Given the description of an element on the screen output the (x, y) to click on. 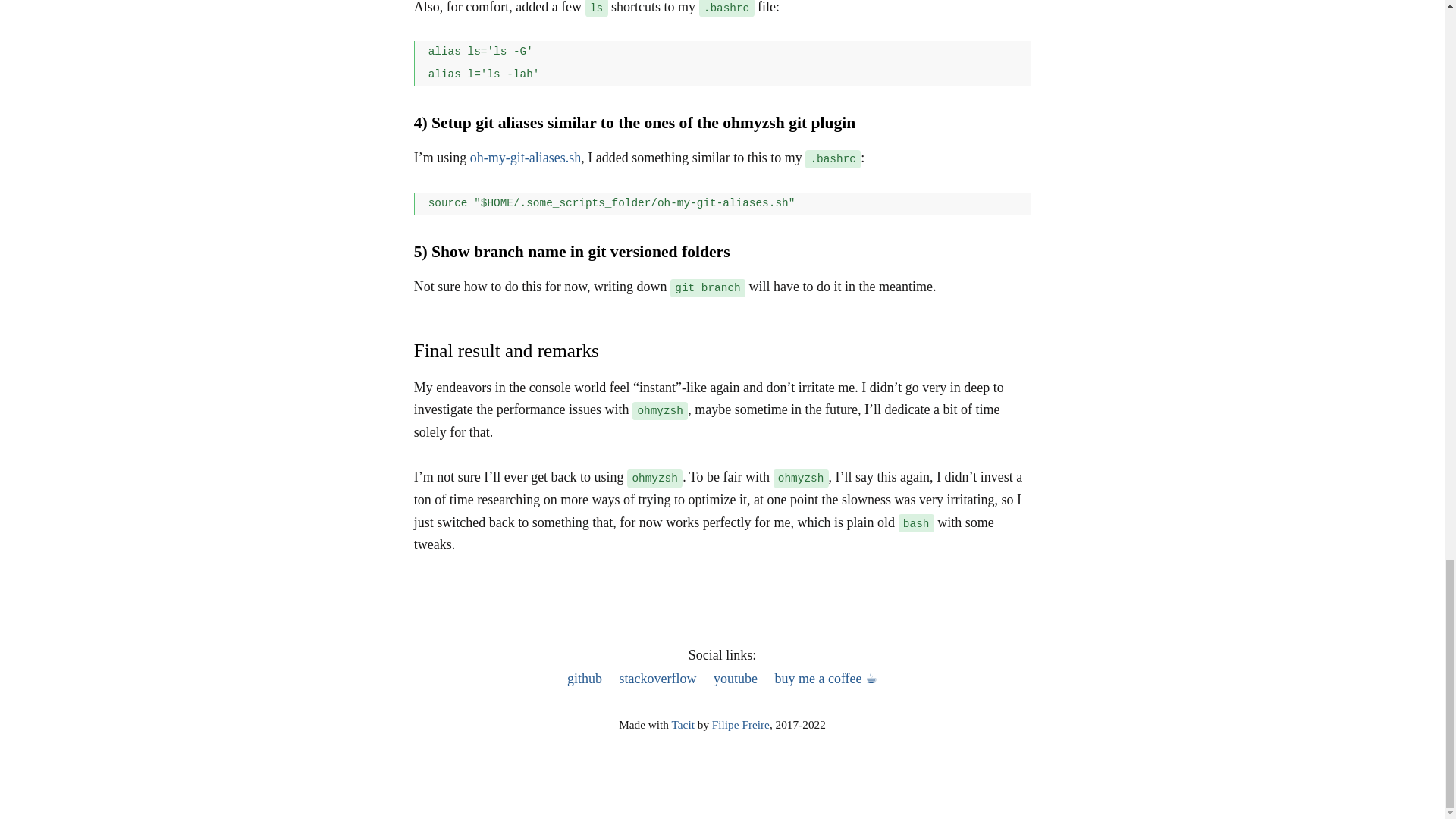
Tacit (682, 724)
stackoverflow (656, 678)
youtube (735, 678)
oh-my-git-aliases.sh (525, 157)
github (584, 678)
Filipe Freire (740, 724)
